Given the description of an element on the screen output the (x, y) to click on. 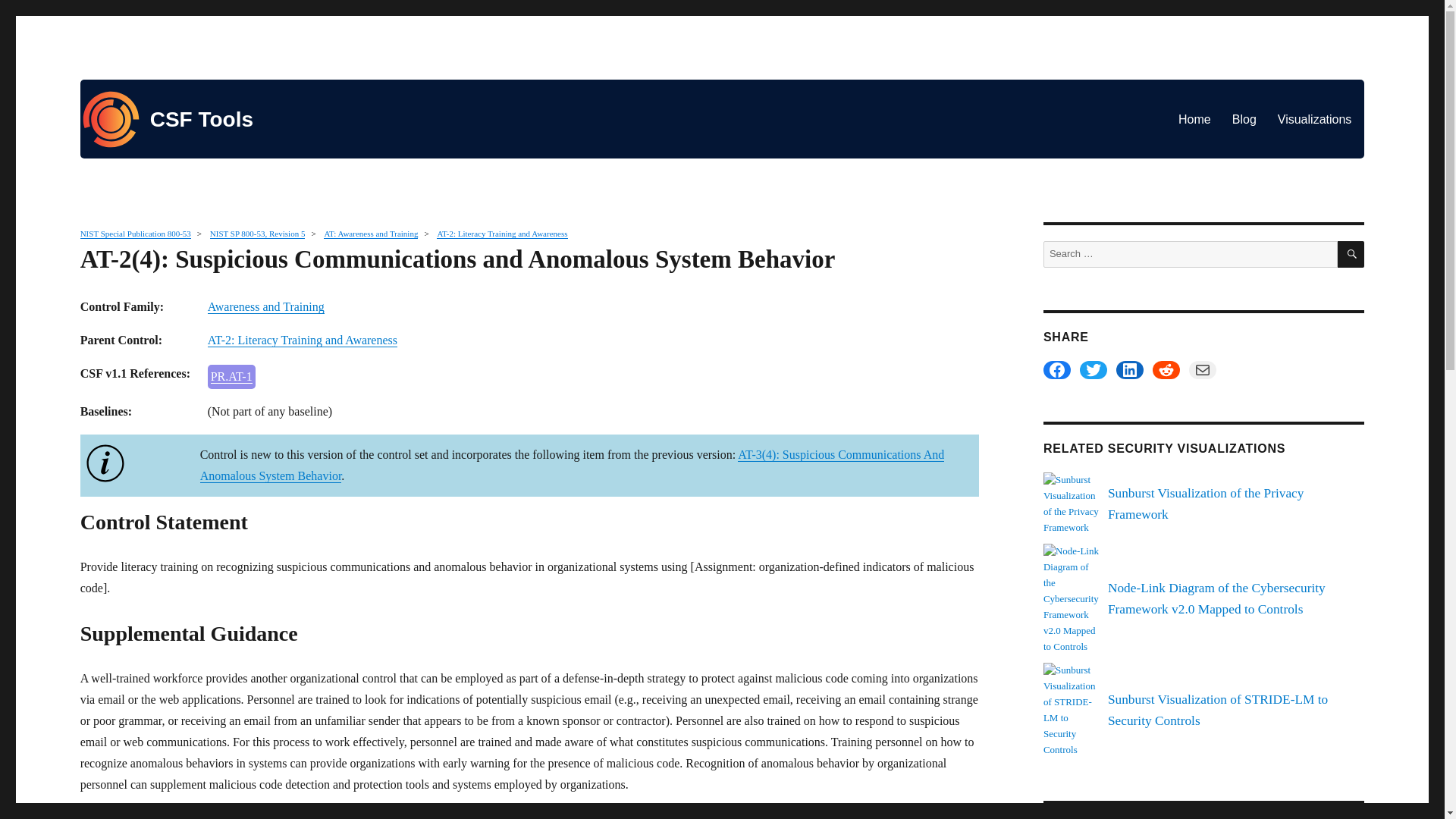
All users are informed and trained (232, 376)
Facebook (1056, 370)
Sunburst Visualization of STRIDE-LM to Security Controls (1071, 708)
PR.AT-1 (231, 376)
AT-2: Literacy Training and Awareness (302, 339)
Home (1194, 119)
Sunburst Visualization of the Privacy Framework (1206, 503)
Visualizations (1314, 119)
Twitter (1093, 370)
